Given the description of an element on the screen output the (x, y) to click on. 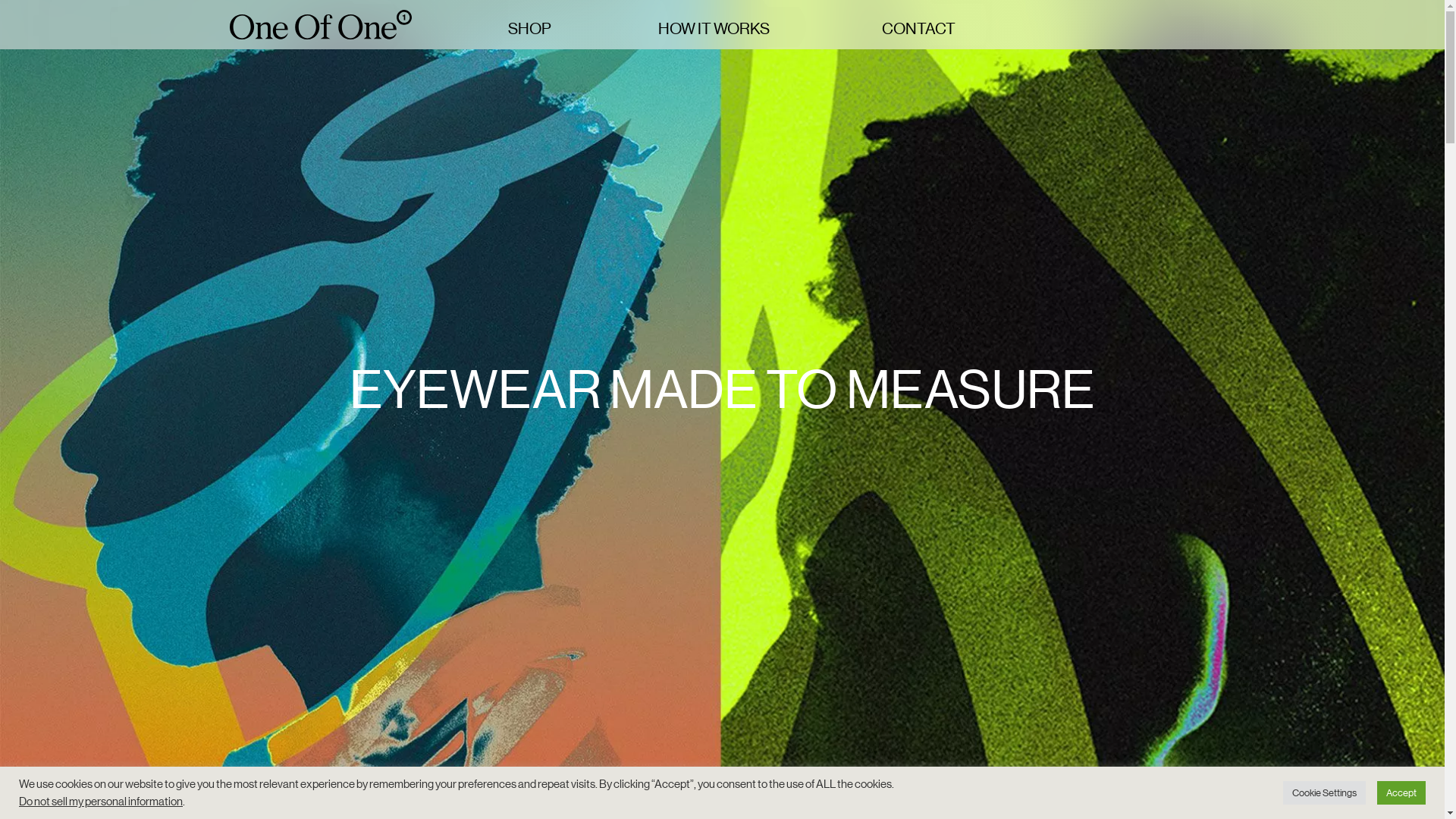
Do not sell my personal information Element type: text (100, 801)
HOW IT WORKS Element type: text (724, 28)
CONTACT Element type: text (929, 28)
Cookie Settings Element type: text (1324, 792)
Accept Element type: text (1401, 792)
SHOP Element type: text (537, 28)
